Given the description of an element on the screen output the (x, y) to click on. 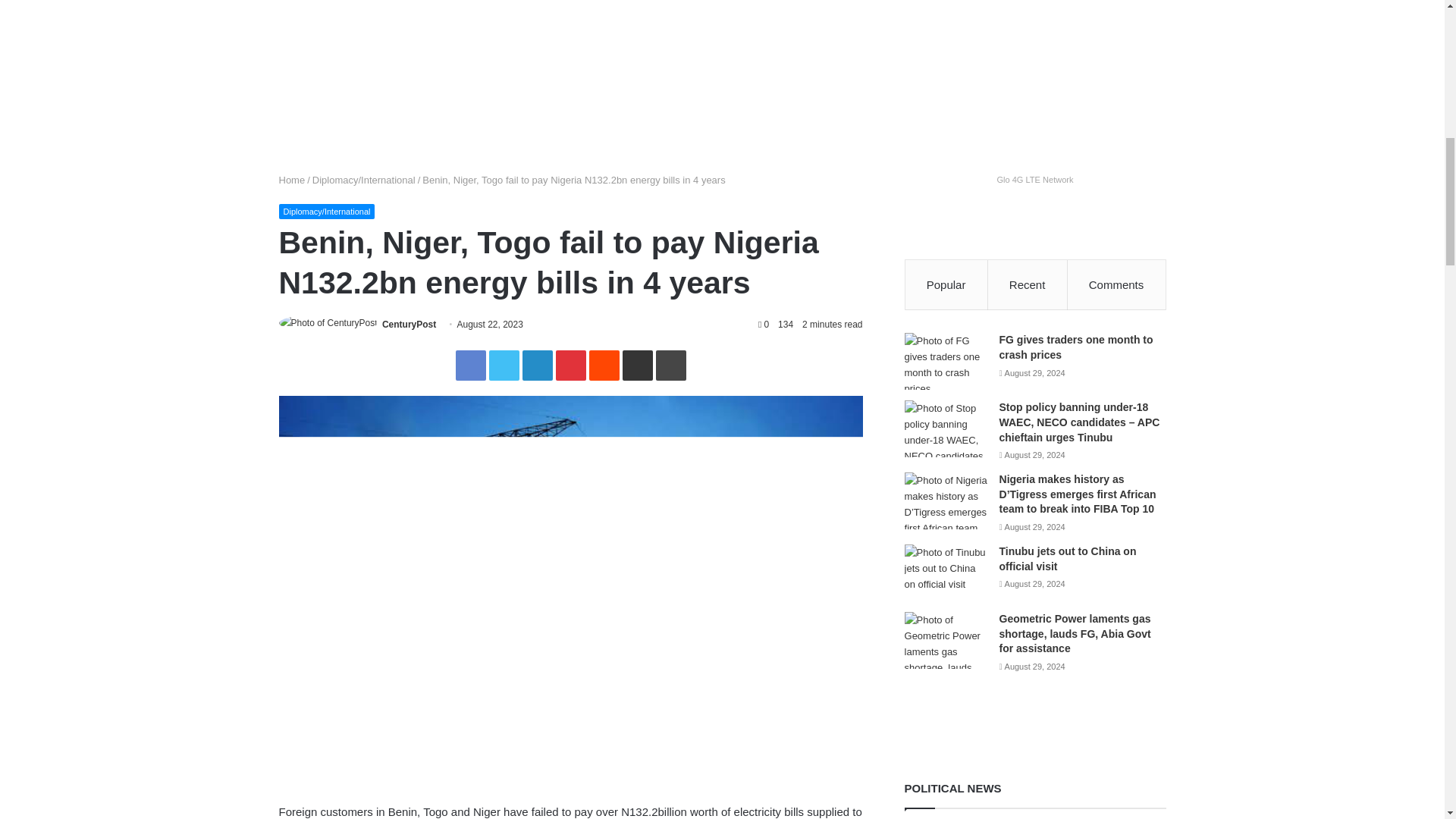
Pinterest (569, 365)
CenturyPost (408, 324)
LinkedIn (536, 365)
Twitter (502, 365)
CBN complaint (722, 11)
Home (292, 179)
Facebook (469, 365)
 Glo 4G LTE Network  (1035, 179)
Reddit (603, 365)
CenturyPost (408, 324)
